Given the description of an element on the screen output the (x, y) to click on. 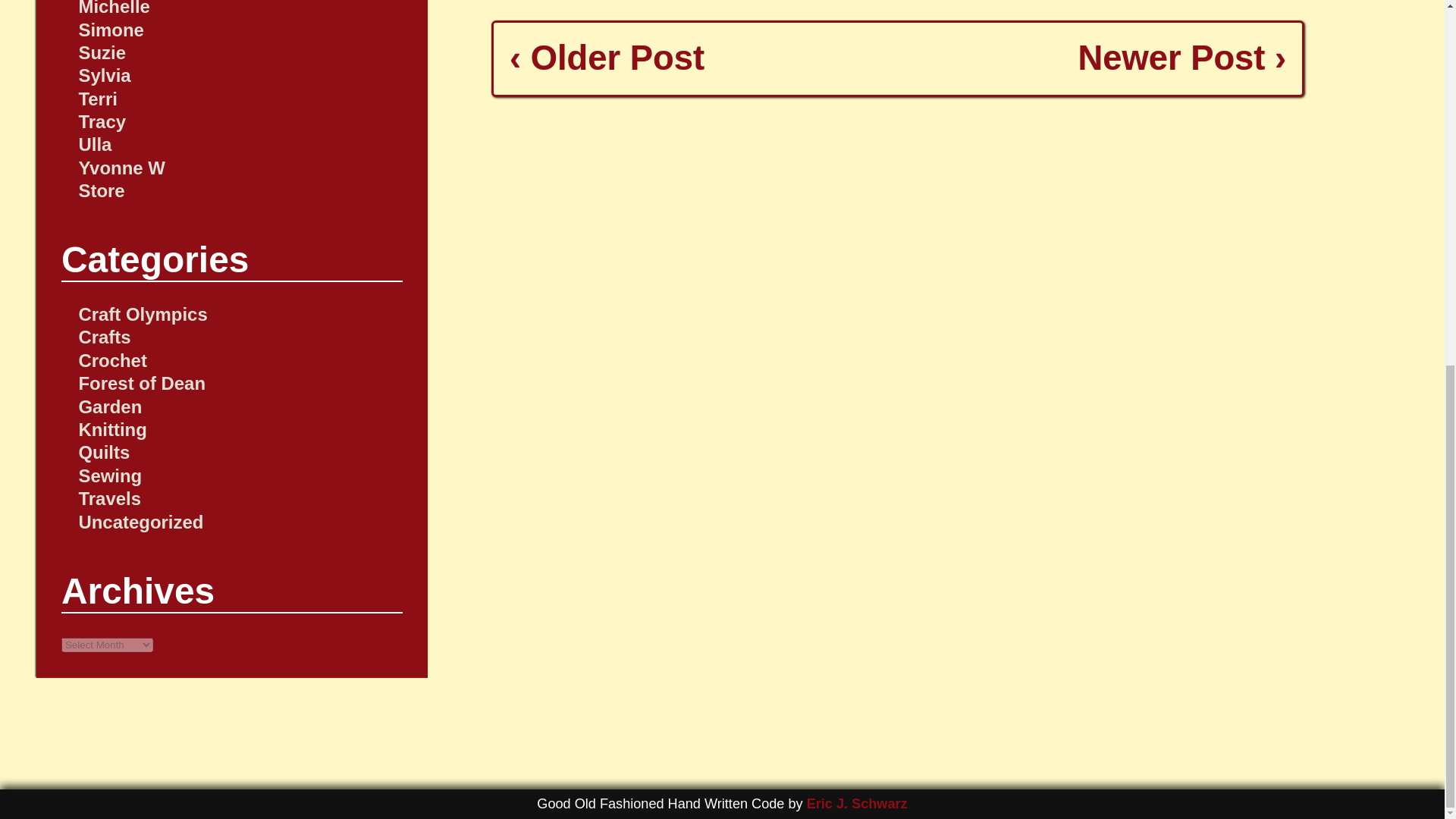
Forest of Dean (141, 383)
Yvonne W (121, 168)
Sylvia (104, 75)
Suzie (101, 52)
Craft Olympics (142, 313)
Store (100, 190)
Crochet (112, 360)
Terri (97, 98)
Ulla (95, 144)
Michelle (113, 8)
Crafts (104, 336)
Simone (110, 29)
Tracy (101, 121)
